Given the description of an element on the screen output the (x, y) to click on. 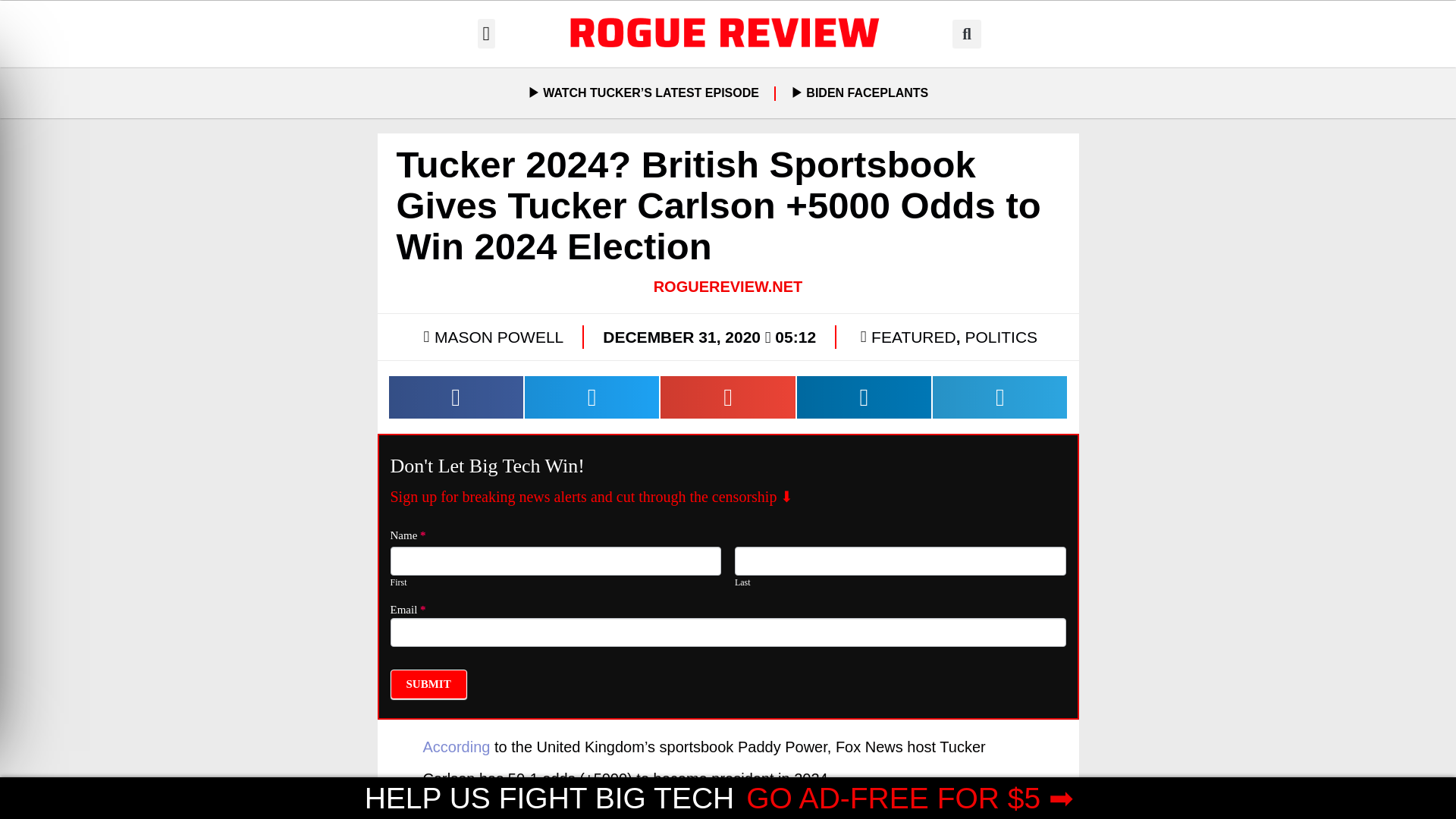
FEATURED (913, 336)
SUBMIT (427, 684)
POLITICS (999, 336)
According (456, 746)
MASON POWELL (491, 336)
